Given the description of an element on the screen output the (x, y) to click on. 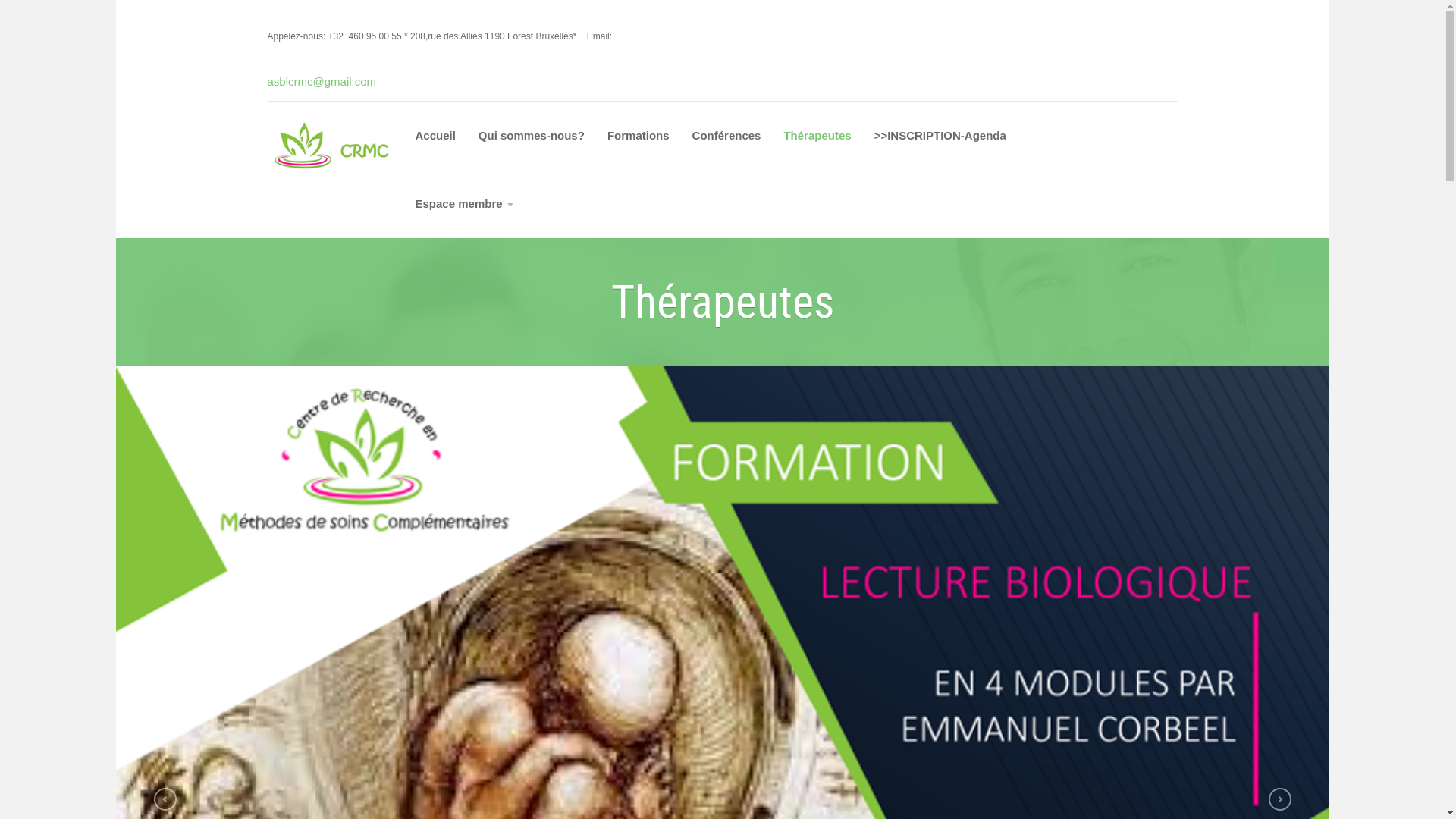
Formations Element type: text (638, 135)
Espace membre Element type: text (463, 203)
Accueil Element type: text (434, 135)
asblcrmc@gmail.com    Element type: text (325, 81)
Qui sommes-nous? Element type: text (531, 135)
>>INSCRIPTION-Agenda Element type: text (939, 135)
